Given the description of an element on the screen output the (x, y) to click on. 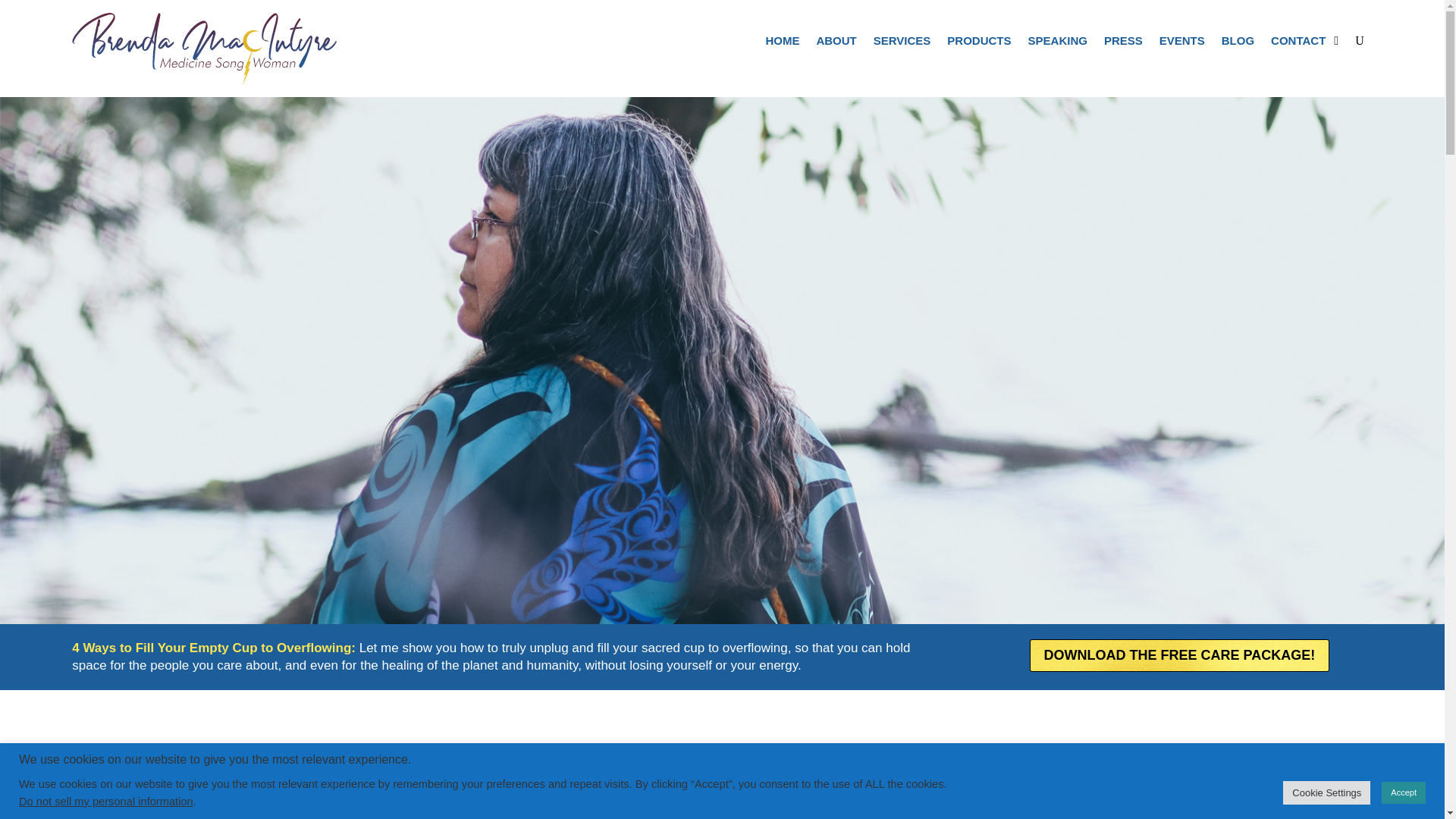
ABOUT (835, 44)
CONTACT (1297, 44)
PRODUCTS (978, 44)
Brenda MacIntyre Web Logo (204, 47)
BLOG (1237, 44)
DOWNLOAD THE FREE CARE PACKAGE! (1179, 655)
SPEAKING (1057, 44)
PRESS (1122, 44)
EVENTS (1181, 44)
HOME (782, 44)
